Given the description of an element on the screen output the (x, y) to click on. 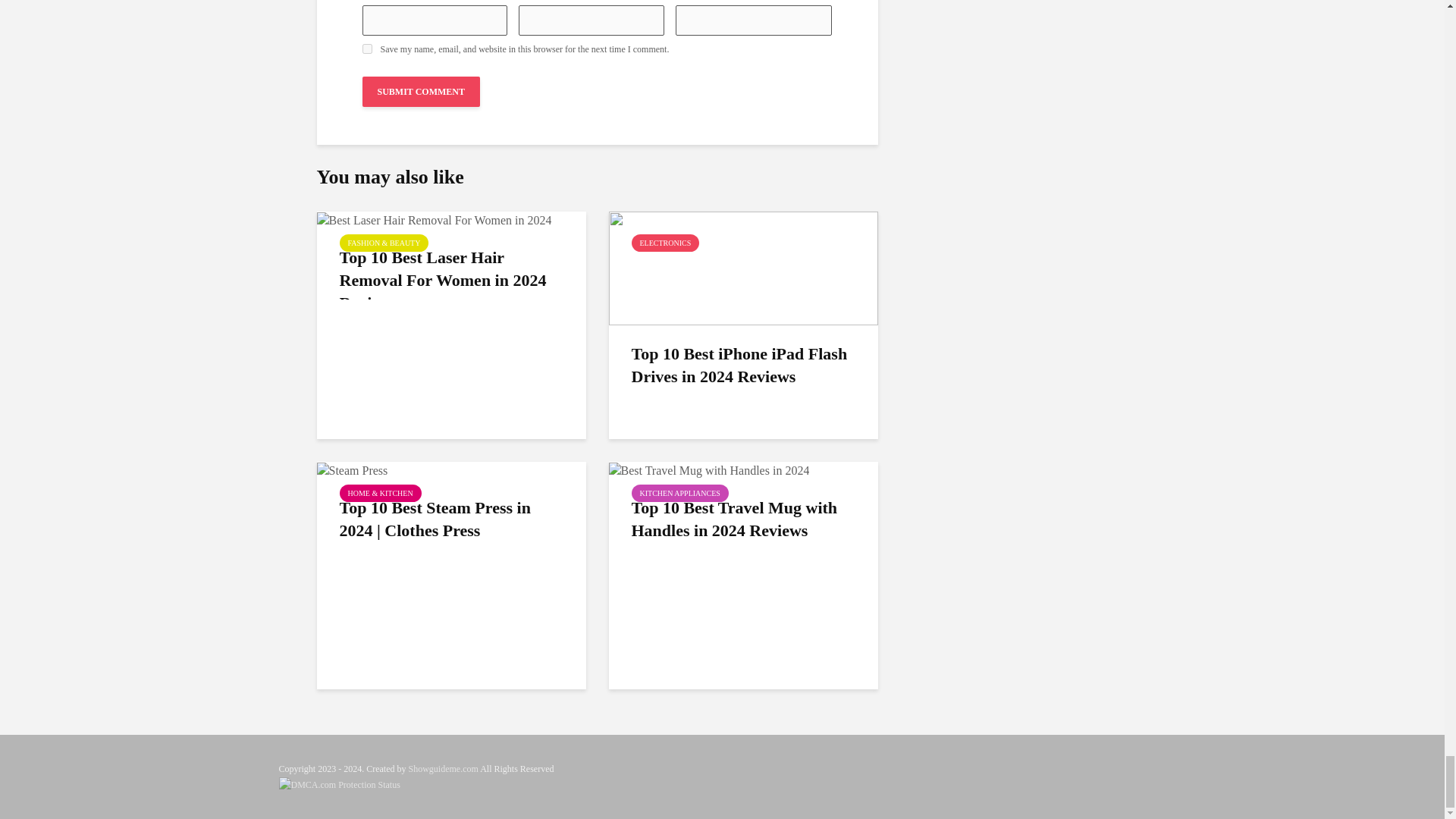
yes (367, 49)
Top 10 Best Travel Mug with Handles in 2024 Reviews (708, 469)
DMCA.com Protection Status (339, 783)
Top 10 Best Laser Hair Removal For Women in 2024 Reviews (434, 219)
Submit Comment (421, 91)
Top 10 Best iPhone iPad Flash Drives in 2024 Reviews (742, 266)
